Given the description of an element on the screen output the (x, y) to click on. 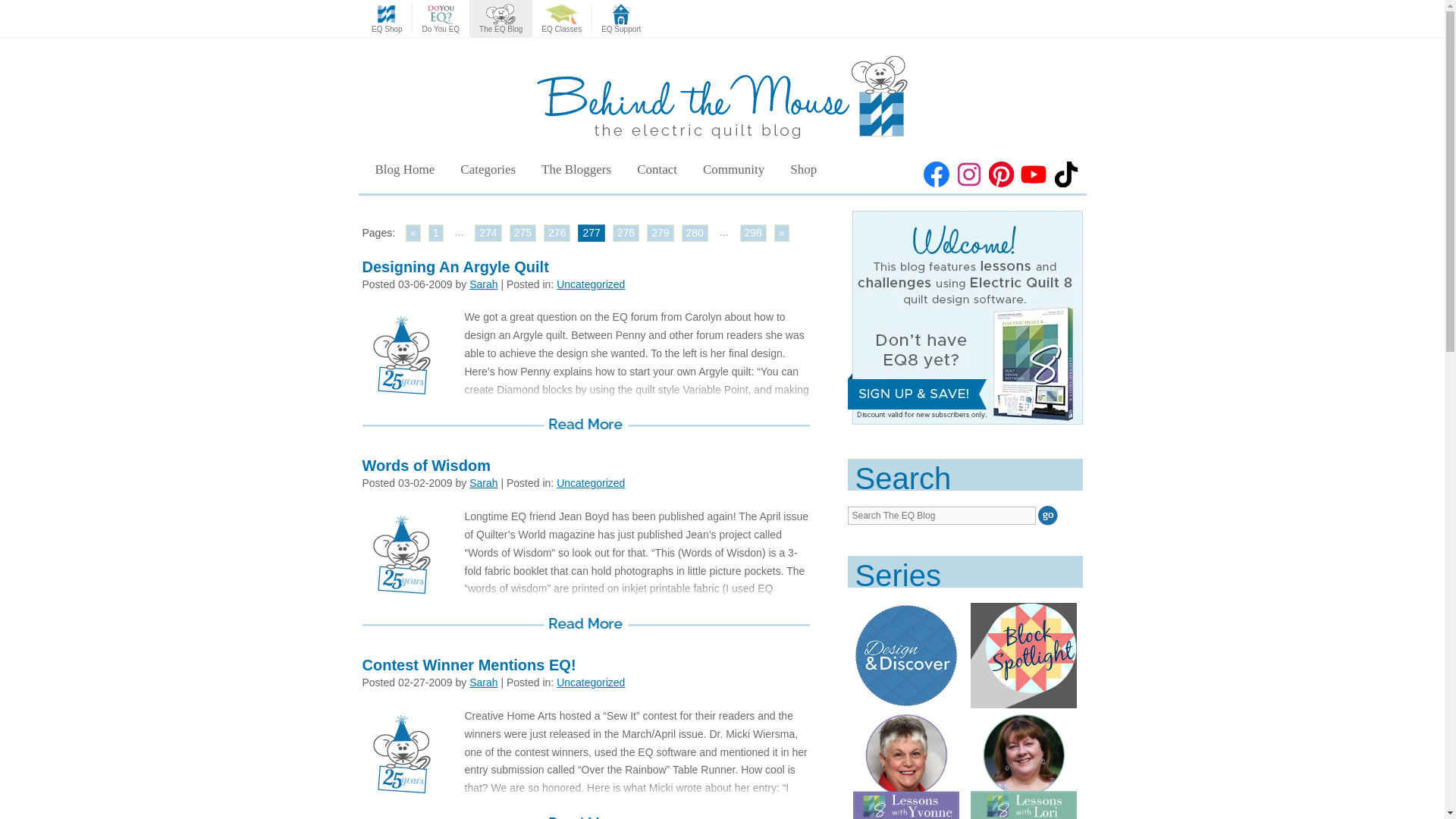
Shop (803, 169)
Electric Quilt on Pinterest (1001, 173)
Search (1048, 515)
Do You EQ (440, 19)
EQ Classes (561, 19)
280 (694, 232)
EQ Support (620, 19)
278 (625, 232)
Search (1048, 515)
274 (487, 232)
Community (733, 169)
Categories (487, 169)
The EQ Blog (500, 19)
Electric Quilt on Facebook (936, 173)
EQ Classes (561, 19)
